Given the description of an element on the screen output the (x, y) to click on. 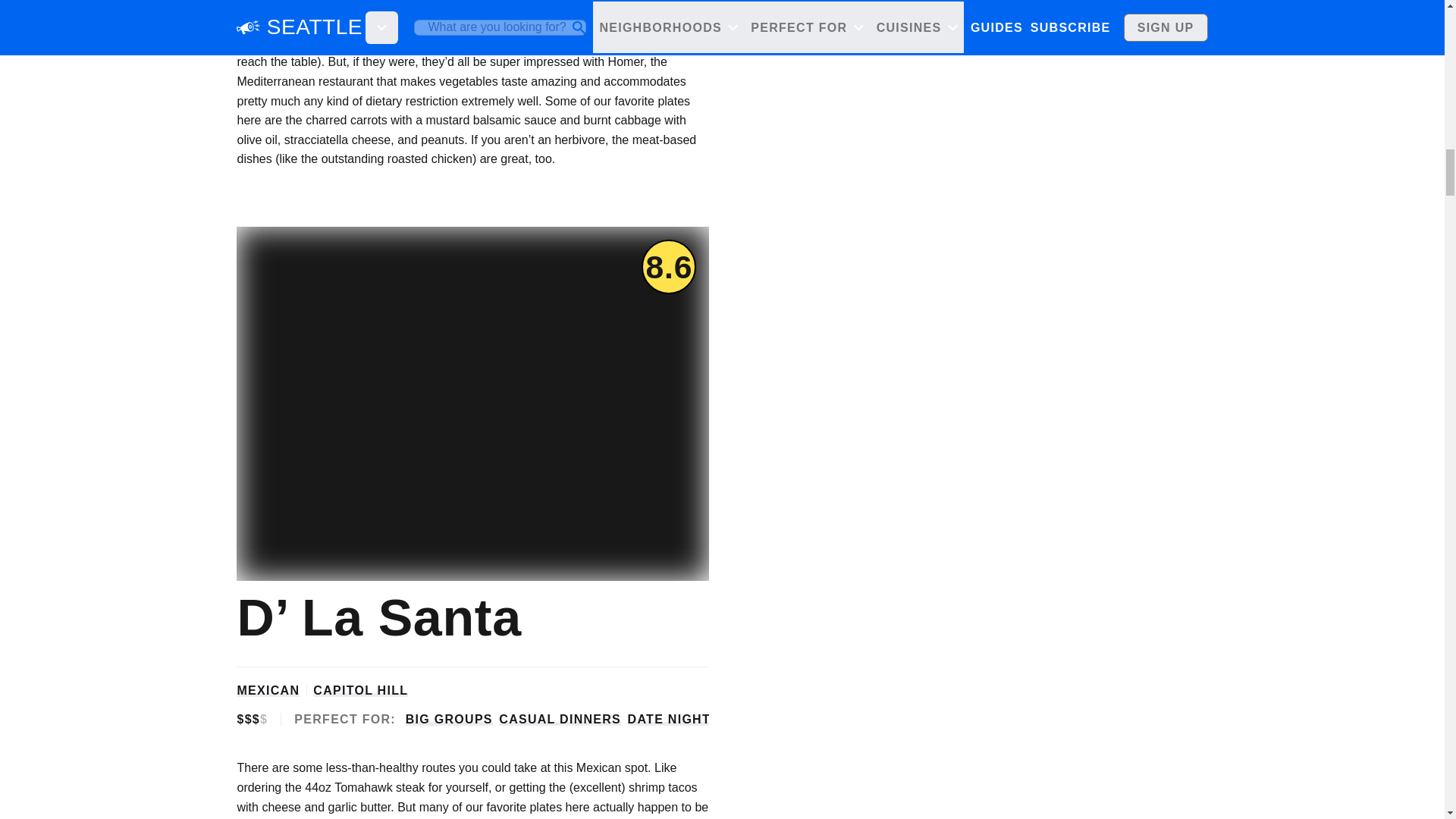
CASUAL DINNERS (560, 719)
DATE NIGHTS (673, 719)
CAPITOL HILL (360, 690)
BIG GROUPS (449, 719)
MEXICAN (267, 690)
